Given the description of an element on the screen output the (x, y) to click on. 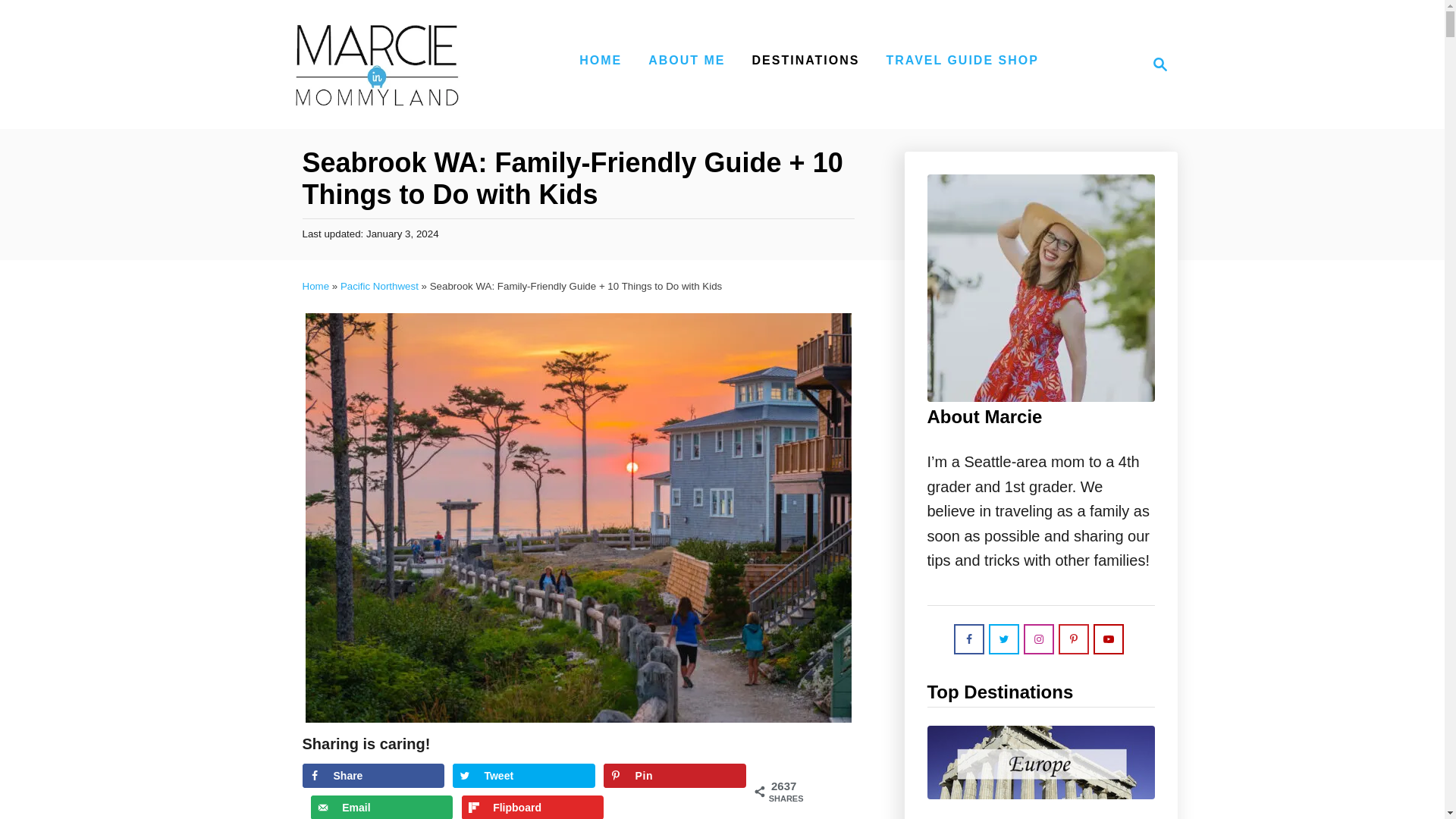
Share on Facebook (372, 775)
Magnifying Glass (1160, 64)
Save to Pinterest (674, 775)
Marcie in Mommyland (376, 64)
Send over email (1155, 64)
ABOUT ME (381, 807)
Share on Flipboard (686, 60)
HOME (532, 807)
Share on Twitter (600, 60)
